Given the description of an element on the screen output the (x, y) to click on. 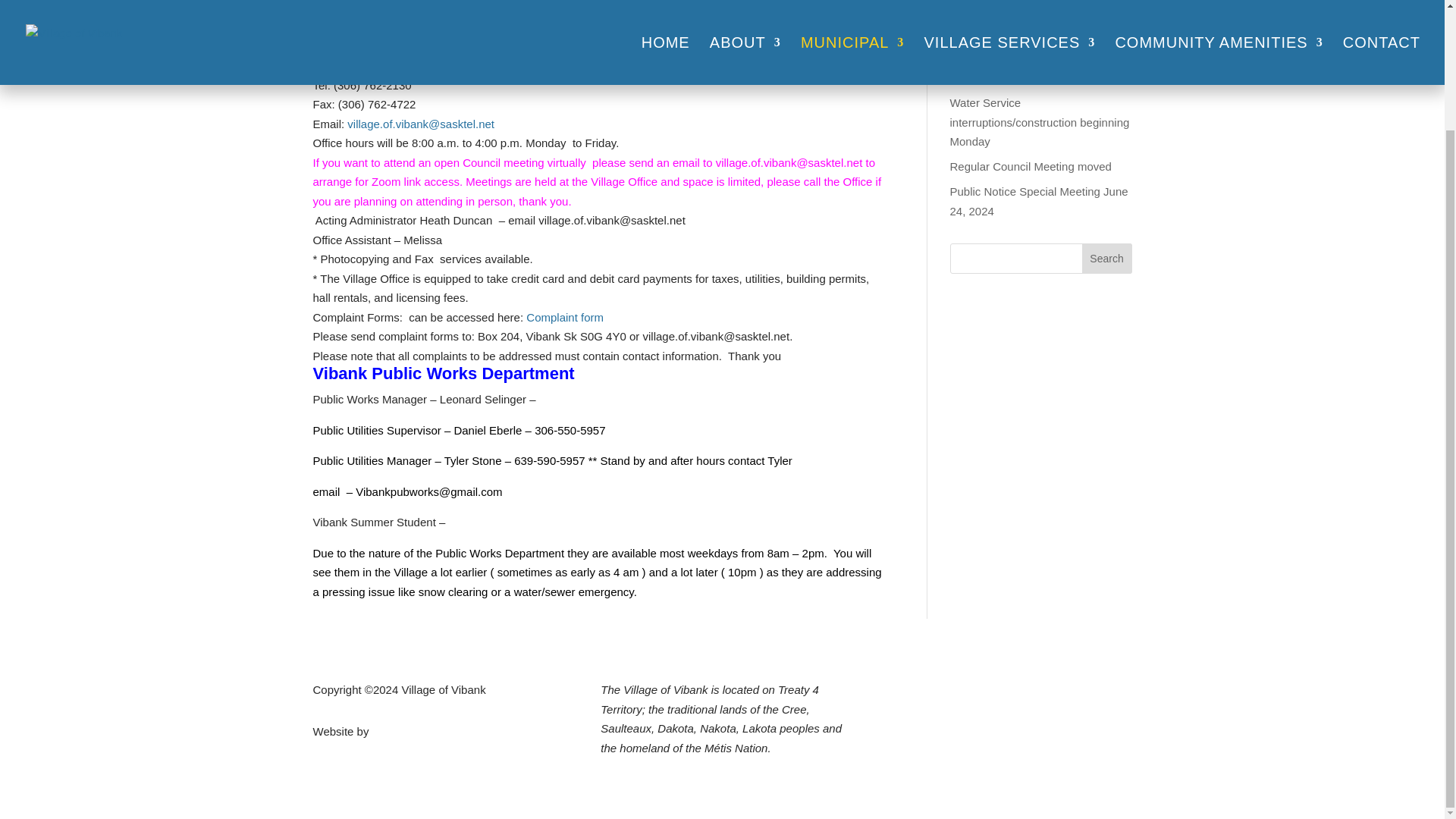
Red Mix Creative (416, 730)
Regular Council Meeting moved (1029, 165)
Public Notice Special Meeting June 24, 2024 (1037, 201)
Search (1106, 258)
Precautionary Drinking Water Advisory In Effect (1023, 23)
Follow on Facebook (1009, 692)
Complaint form (564, 317)
November Election Fast Approaching! (1009, 67)
Search (1106, 258)
